Given the description of an element on the screen output the (x, y) to click on. 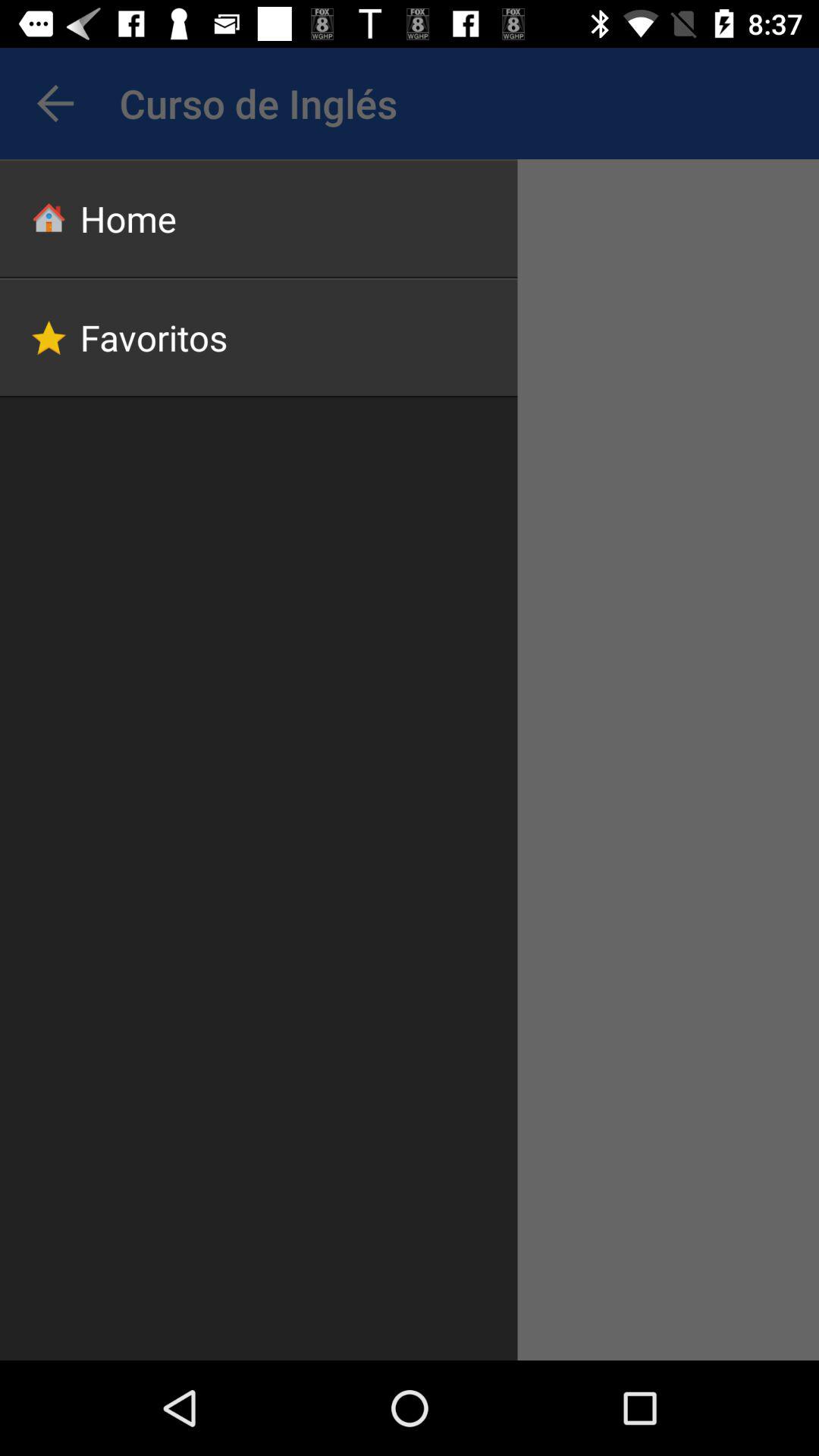
jump until home icon (258, 218)
